Given the description of an element on the screen output the (x, y) to click on. 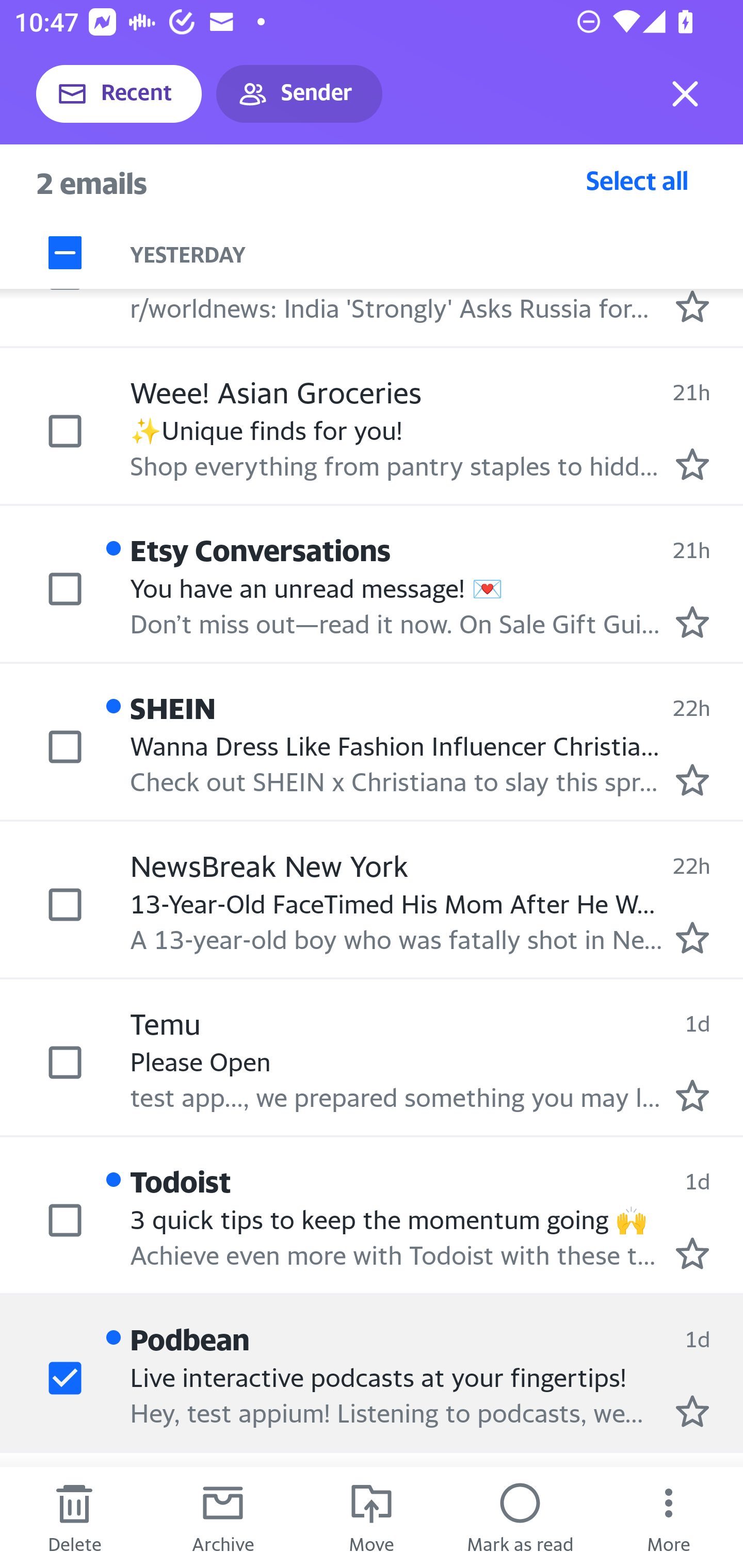
Sender (299, 93)
Exit selection mode (684, 93)
Select all (637, 180)
Mark as starred. (692, 306)
Mark as starred. (692, 464)
Mark as starred. (692, 621)
Mark as starred. (692, 780)
Mark as starred. (692, 938)
Mark as starred. (692, 1095)
Mark as starred. (692, 1253)
Mark as starred. (692, 1411)
Delete (74, 1517)
Archive (222, 1517)
Move (371, 1517)
Mark as read (519, 1517)
More (668, 1517)
